Given the description of an element on the screen output the (x, y) to click on. 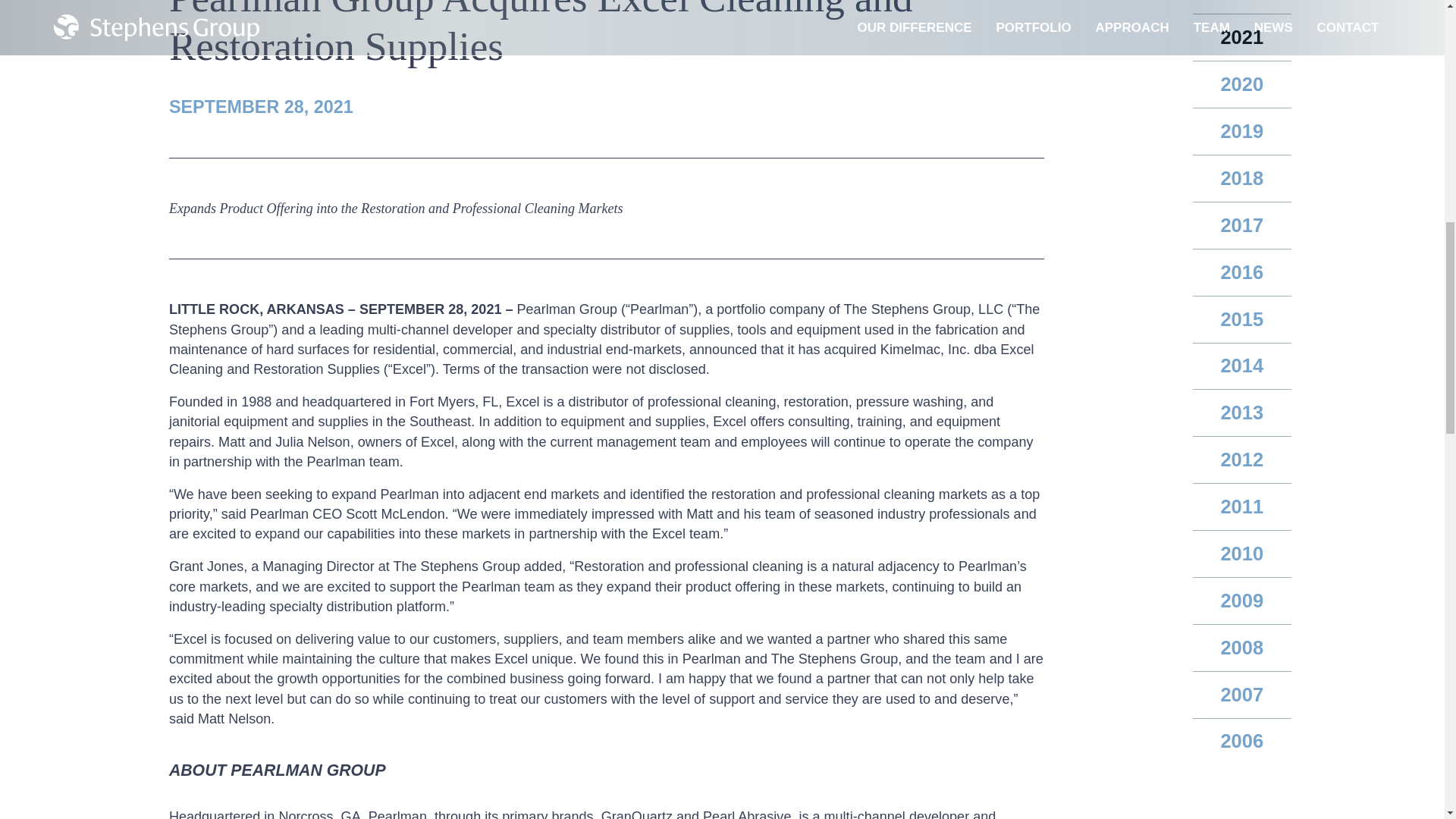
2017 (1241, 225)
2015 (1241, 319)
2009 (1241, 601)
2021 (1241, 37)
2019 (1241, 131)
2008 (1241, 647)
2014 (1241, 366)
2020 (1241, 84)
2016 (1241, 272)
2013 (1241, 412)
